Given the description of an element on the screen output the (x, y) to click on. 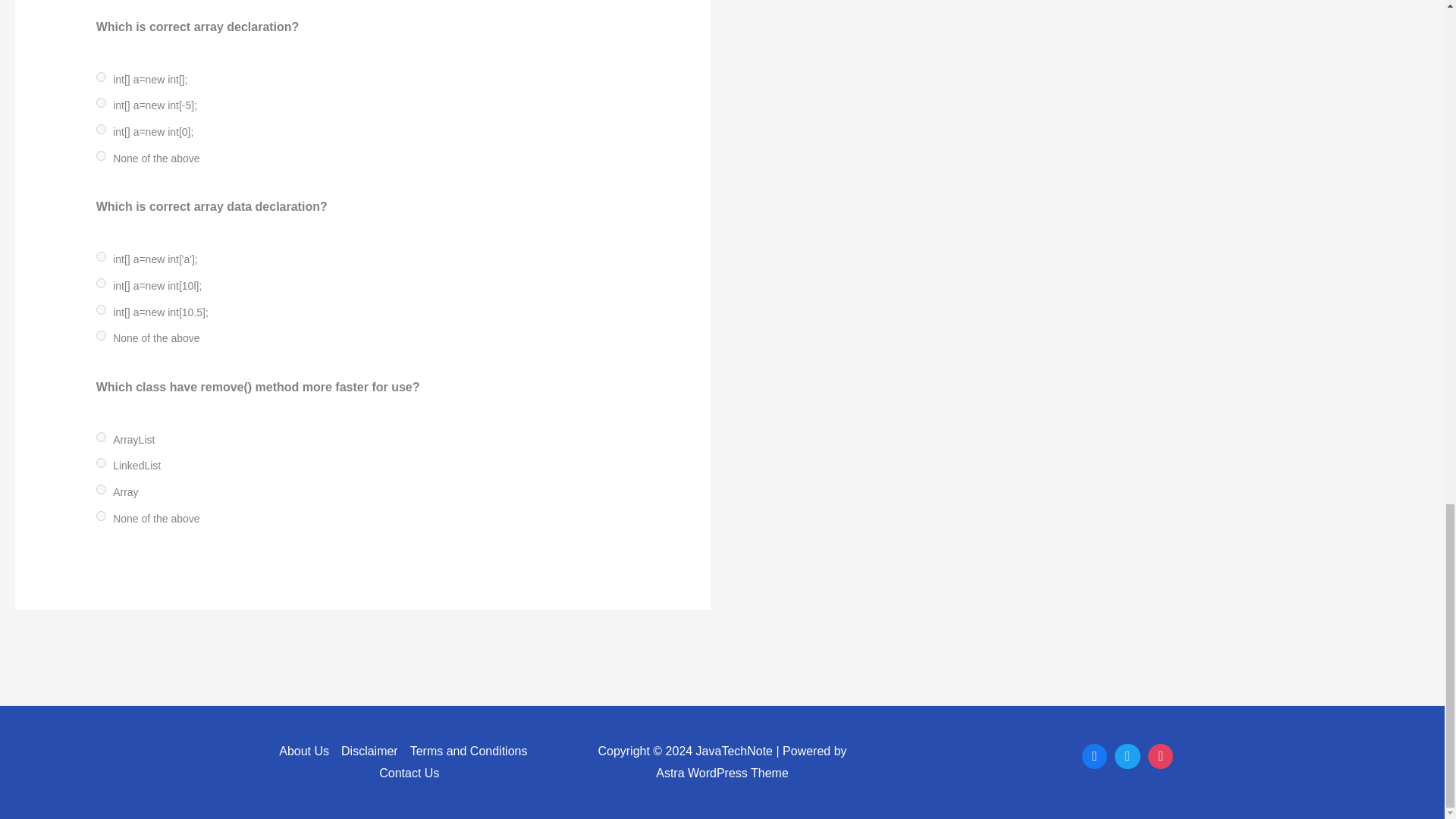
Facebook (1095, 756)
Instagram (1160, 756)
Twitter (1127, 756)
